Given the description of an element on the screen output the (x, y) to click on. 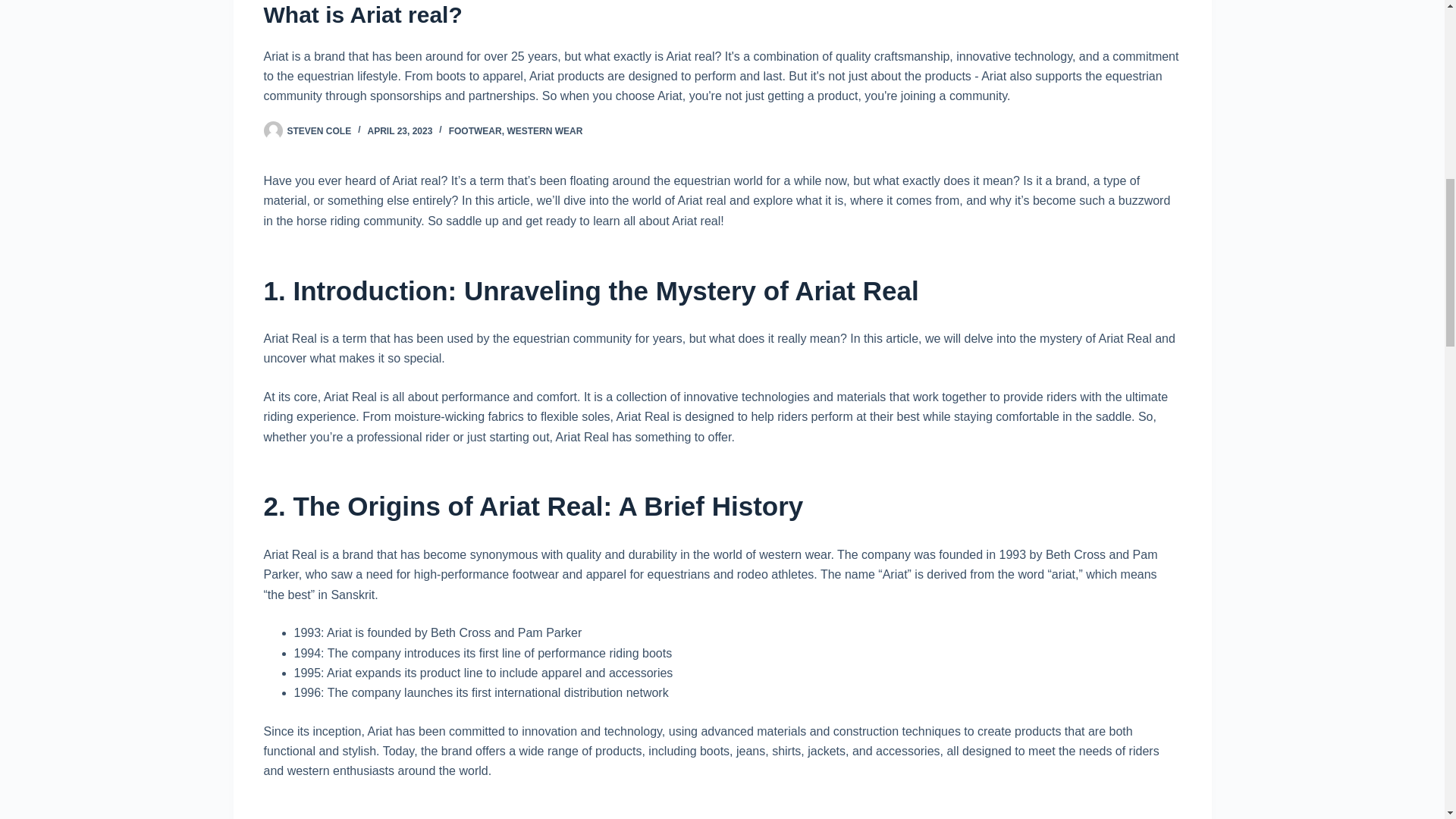
STEVEN COLE (318, 131)
What is Ariat real? (721, 15)
FOOTWEAR (475, 131)
Posts by Steven Cole (318, 131)
WESTERN WEAR (544, 131)
